Given the description of an element on the screen output the (x, y) to click on. 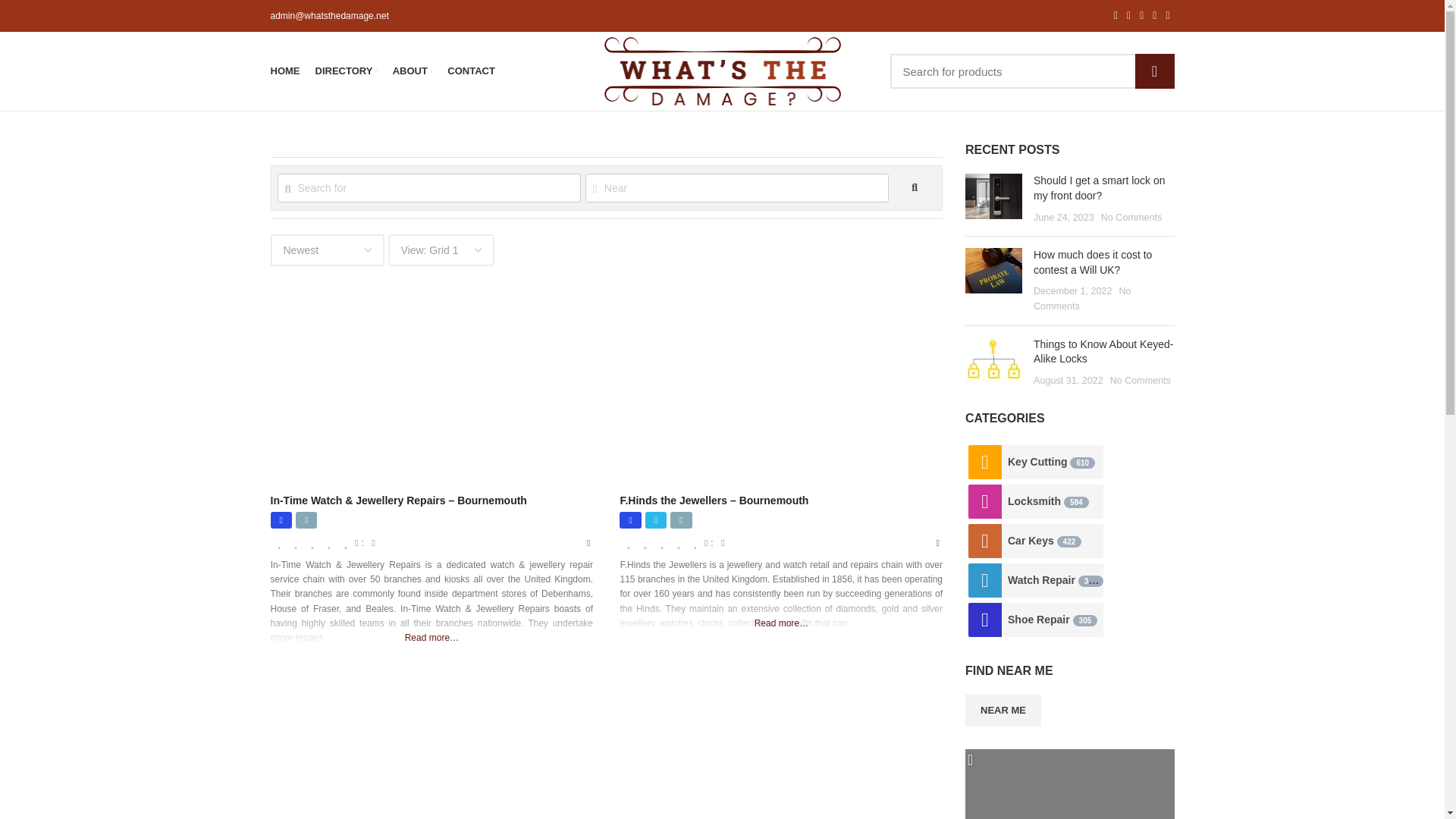
Search for products (1031, 71)
HOME (284, 71)
CONTACT (470, 71)
Website (680, 519)
SEARCH (1153, 71)
DIRECTORY (346, 71)
SEARCH (914, 187)
Twitter (655, 519)
No rating yet! (311, 542)
Facebook (630, 519)
